Given the description of an element on the screen output the (x, y) to click on. 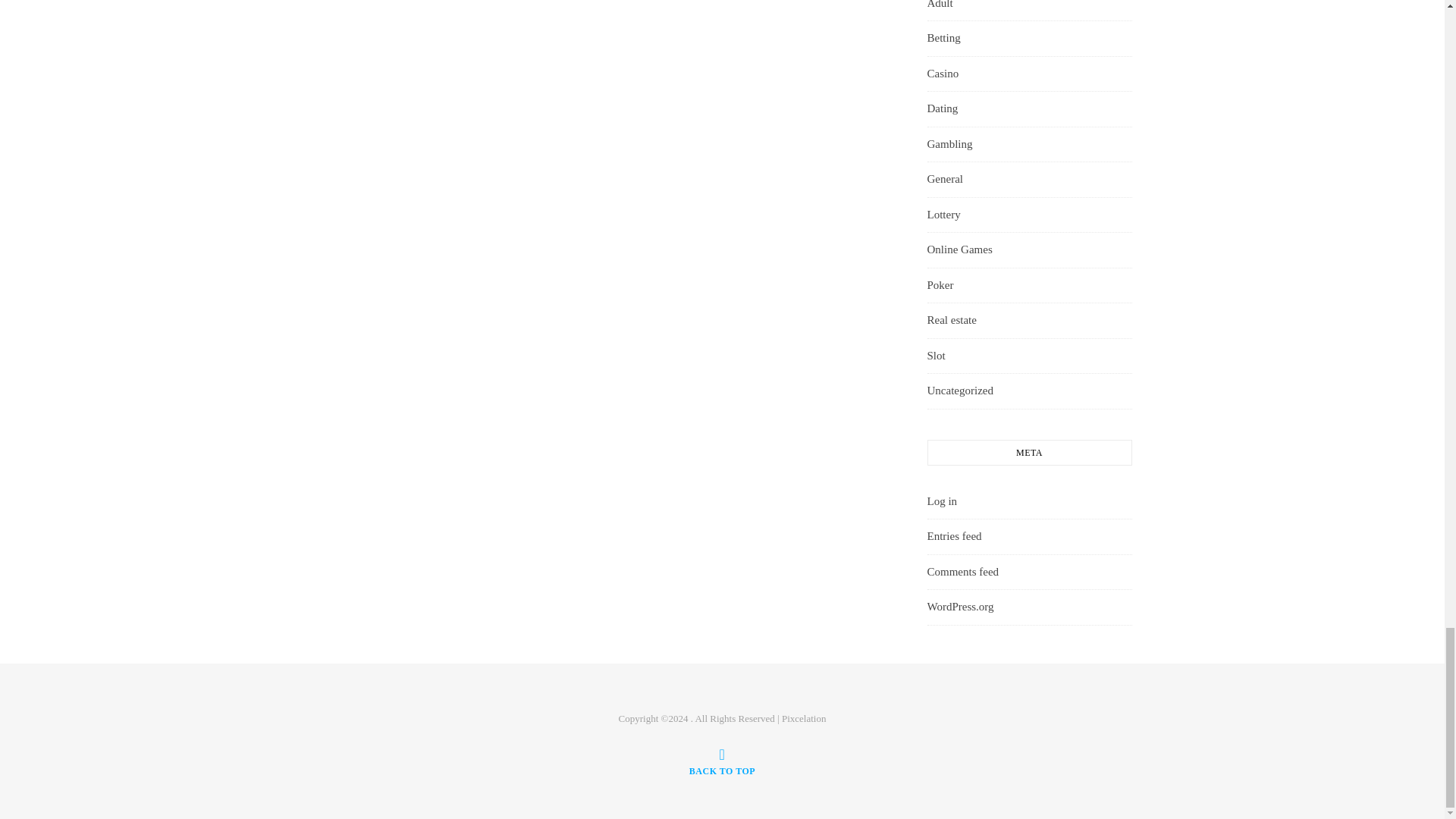
BACK TO TOP (722, 761)
